Given the description of an element on the screen output the (x, y) to click on. 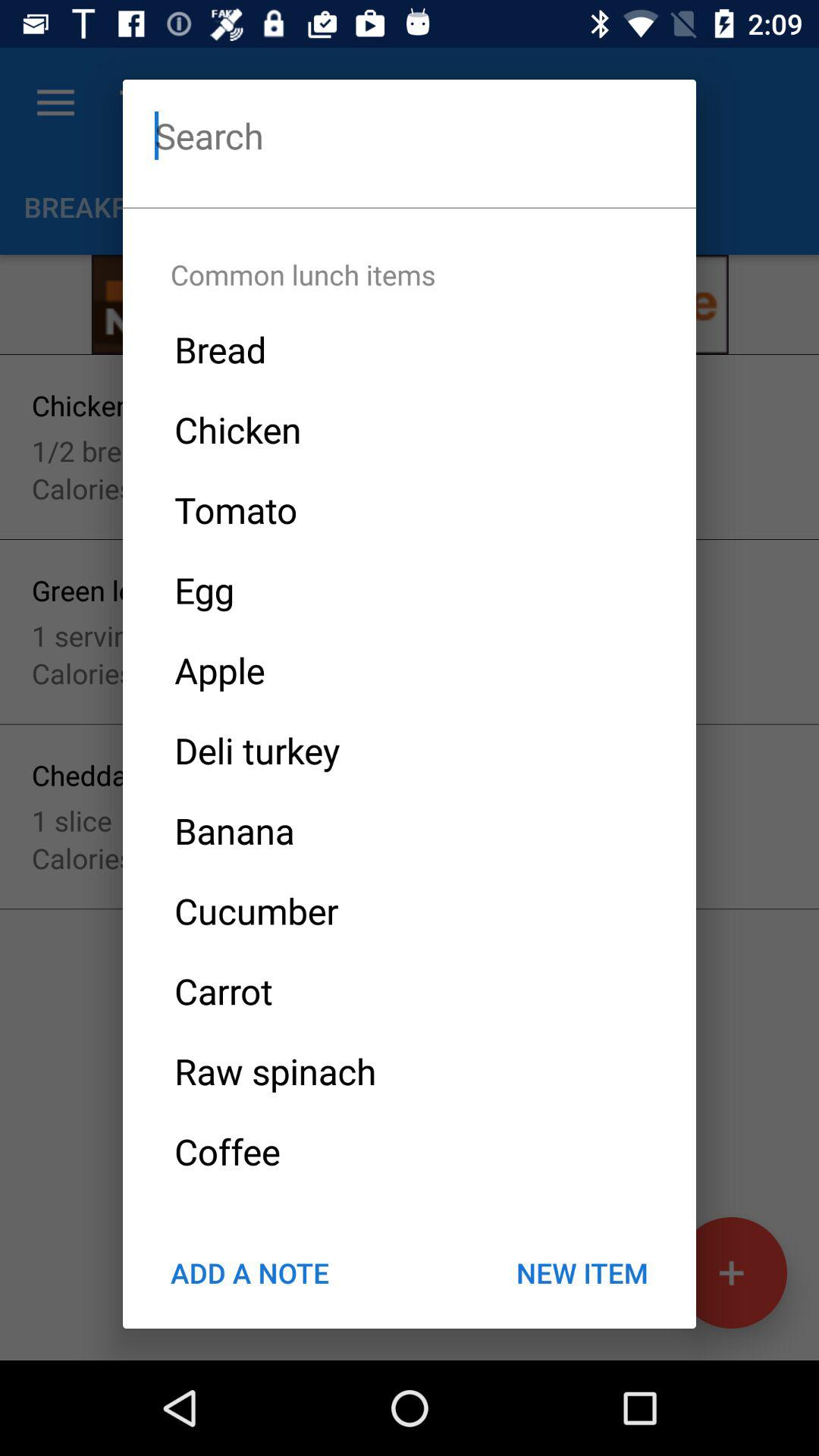
choose the icon below coffee item (582, 1272)
